Given the description of an element on the screen output the (x, y) to click on. 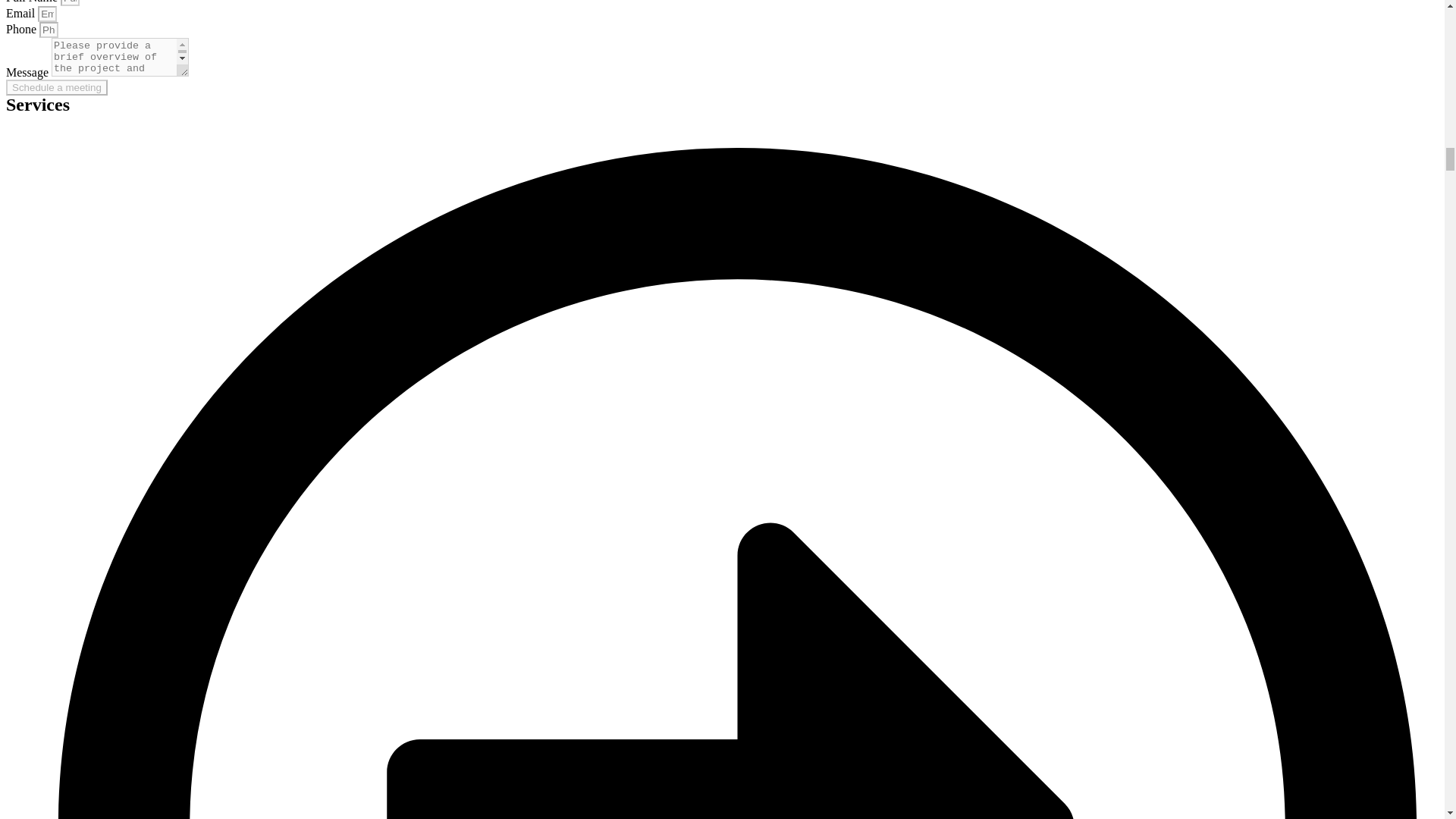
Schedule a meeting (56, 87)
